Given the description of an element on the screen output the (x, y) to click on. 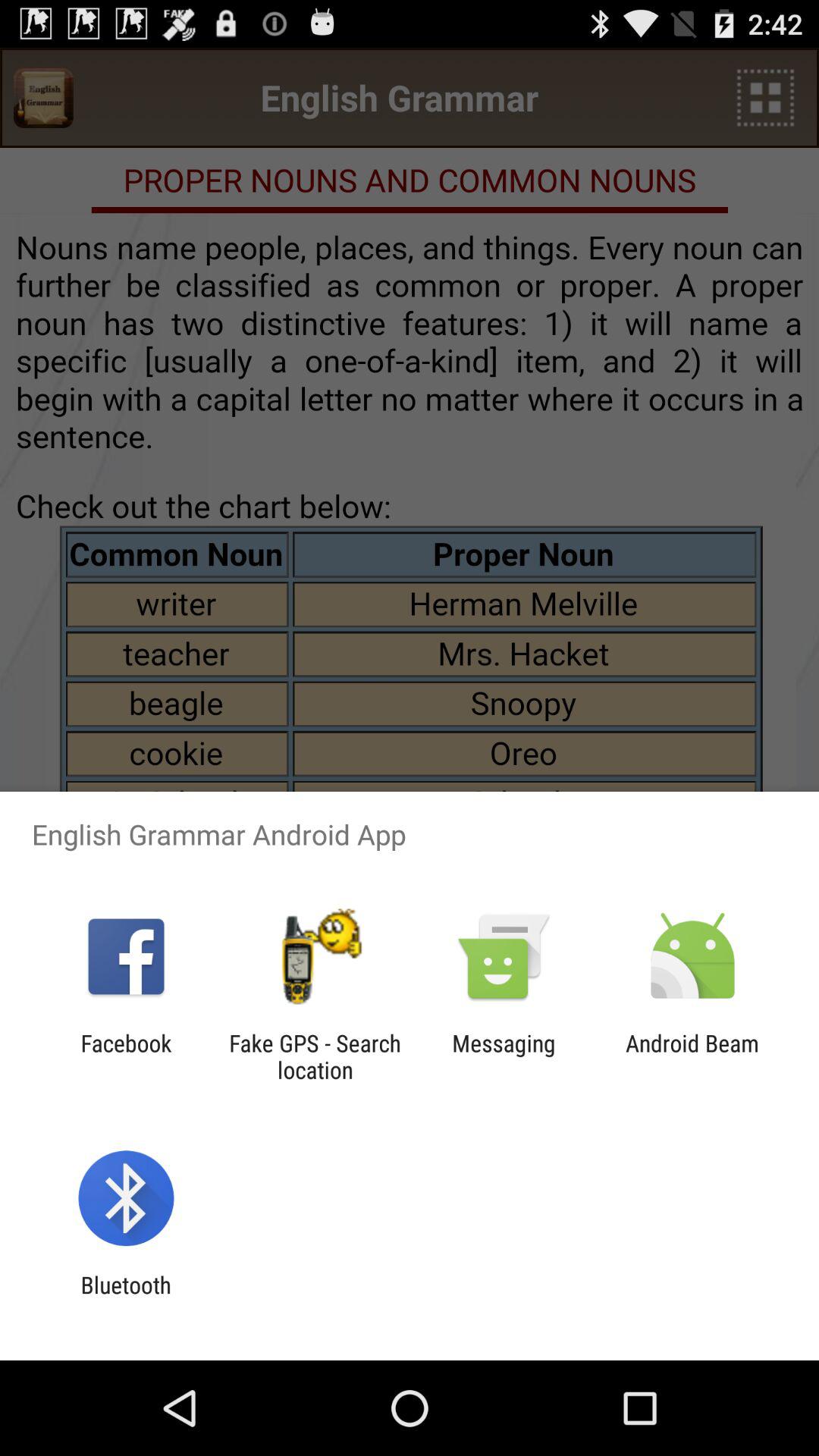
select the bluetooth (125, 1298)
